Given the description of an element on the screen output the (x, y) to click on. 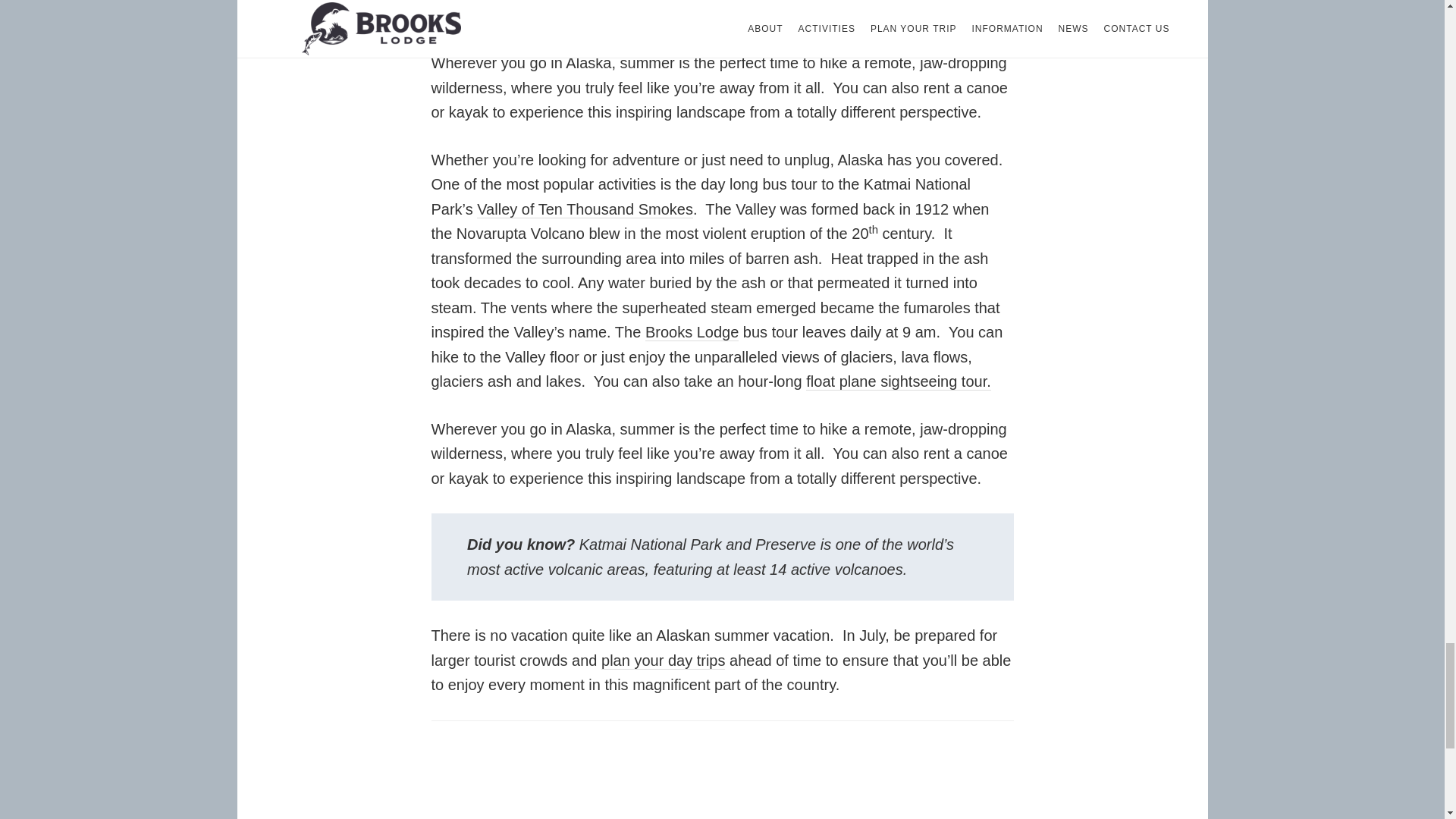
Flightseeing Tours (898, 16)
Brooks Lodge (691, 332)
Plan Your Trip (663, 660)
Valley of Ten Thousand Smokes (585, 209)
float plane sightseeing tour. (898, 16)
The Valley of Ten Thousand Smokes (585, 209)
